Given the description of an element on the screen output the (x, y) to click on. 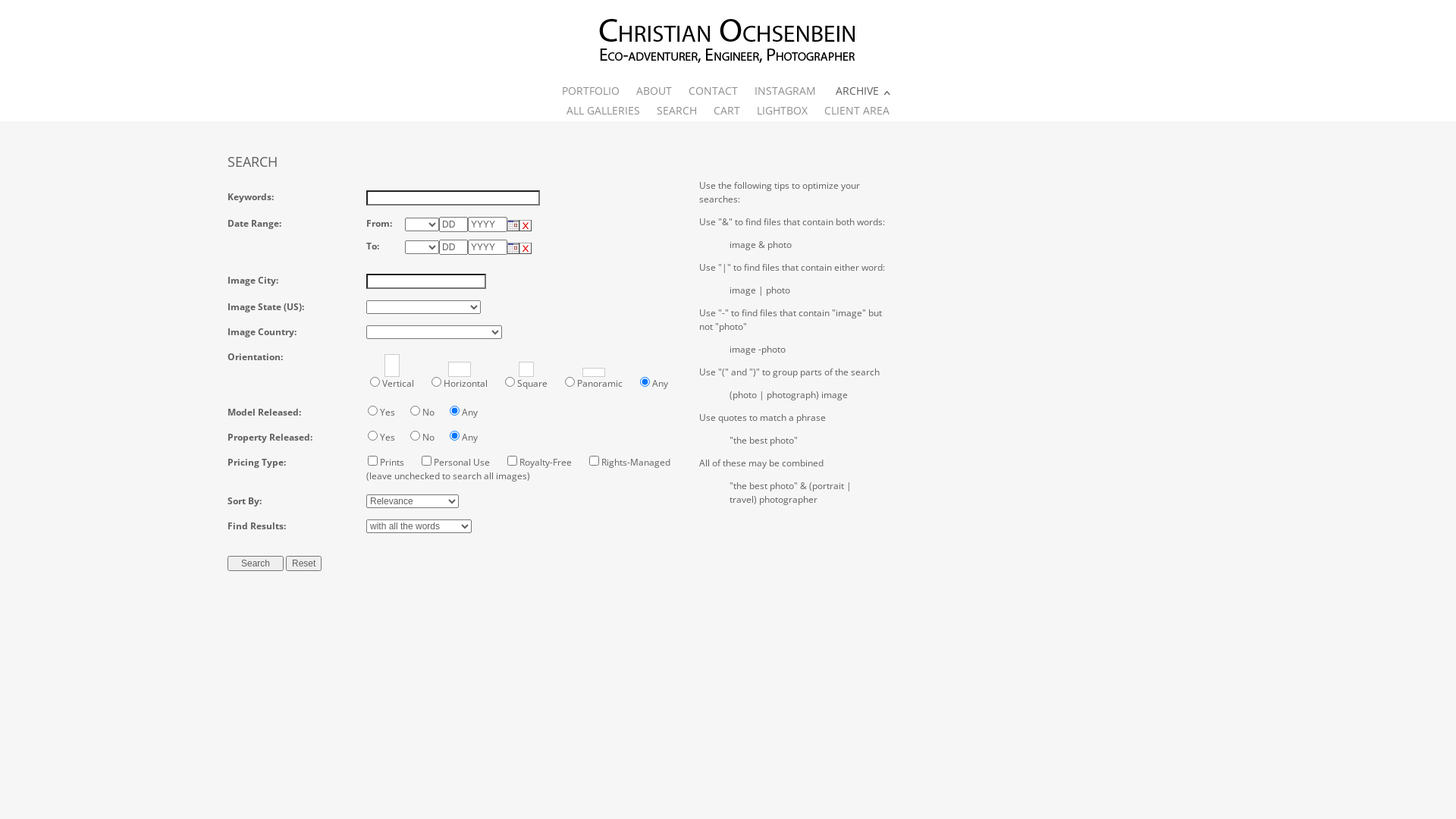
CLIENT AREA Element type: text (856, 110)
CONTACT Element type: text (712, 90)
ABOUT Element type: text (653, 90)
PORTFOLIO Element type: text (590, 90)
   Search    Element type: text (255, 563)
LIGHTBOX Element type: text (781, 110)
CART Element type: text (726, 110)
ALL GALLERIES Element type: text (603, 110)
INSTAGRAM Element type: text (784, 90)
SEARCH Element type: text (676, 110)
CHRISTIAN OCHSENBEIN Element type: text (727, 40)
